Given the description of an element on the screen output the (x, y) to click on. 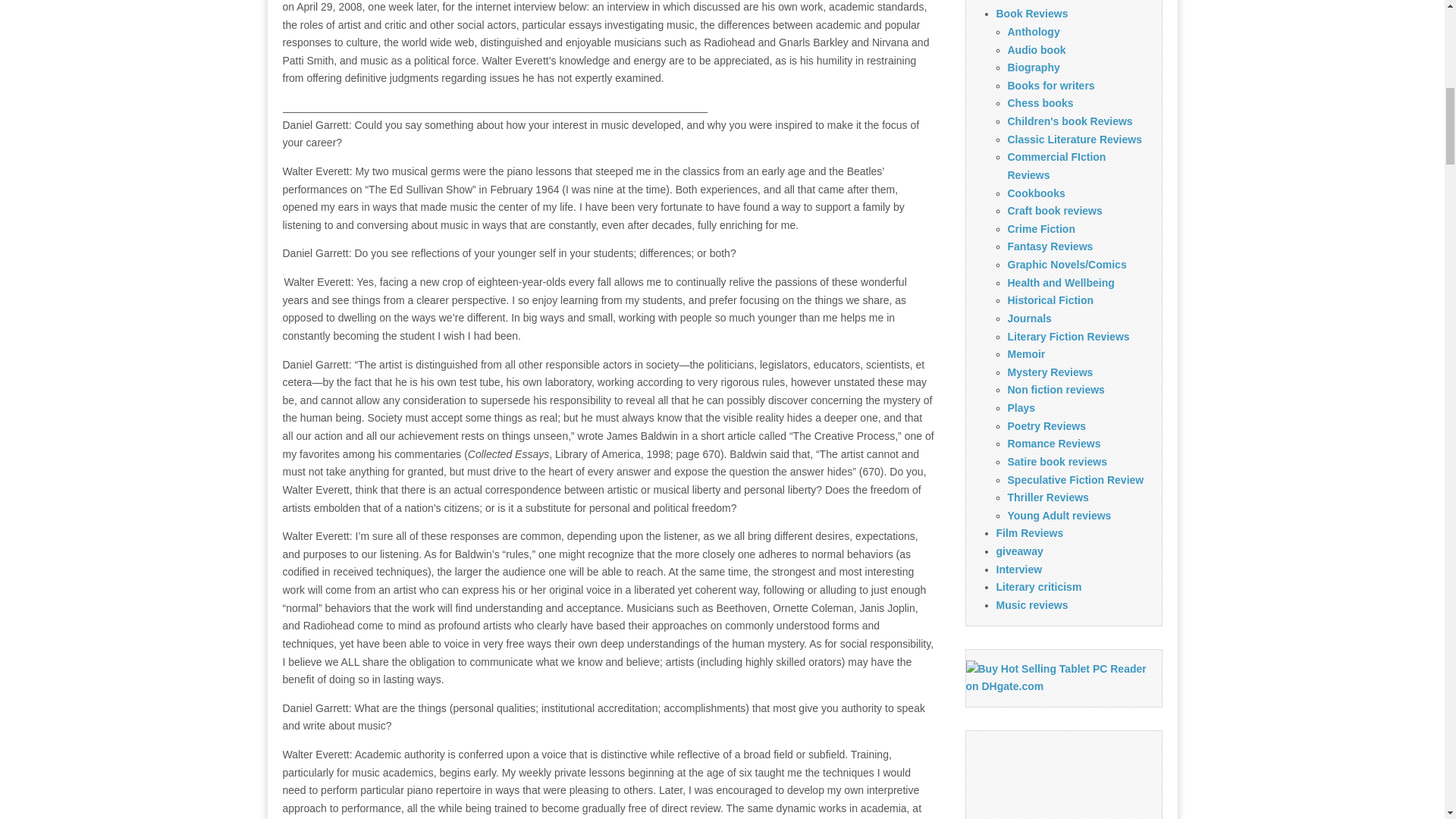
Audio book (1036, 50)
Commercial FIction Reviews (1056, 165)
Books for writers (1050, 85)
Fantasy Reviews (1050, 246)
Chess books (1040, 102)
Cookbooks (1035, 193)
Historical Fiction (1050, 300)
Biography (1033, 67)
Health and Wellbeing (1060, 282)
Children's book Reviews (1069, 121)
Book Reviews (1031, 13)
Crime Fiction (1040, 228)
Craft book reviews (1054, 210)
Journals (1029, 318)
